Given the description of an element on the screen output the (x, y) to click on. 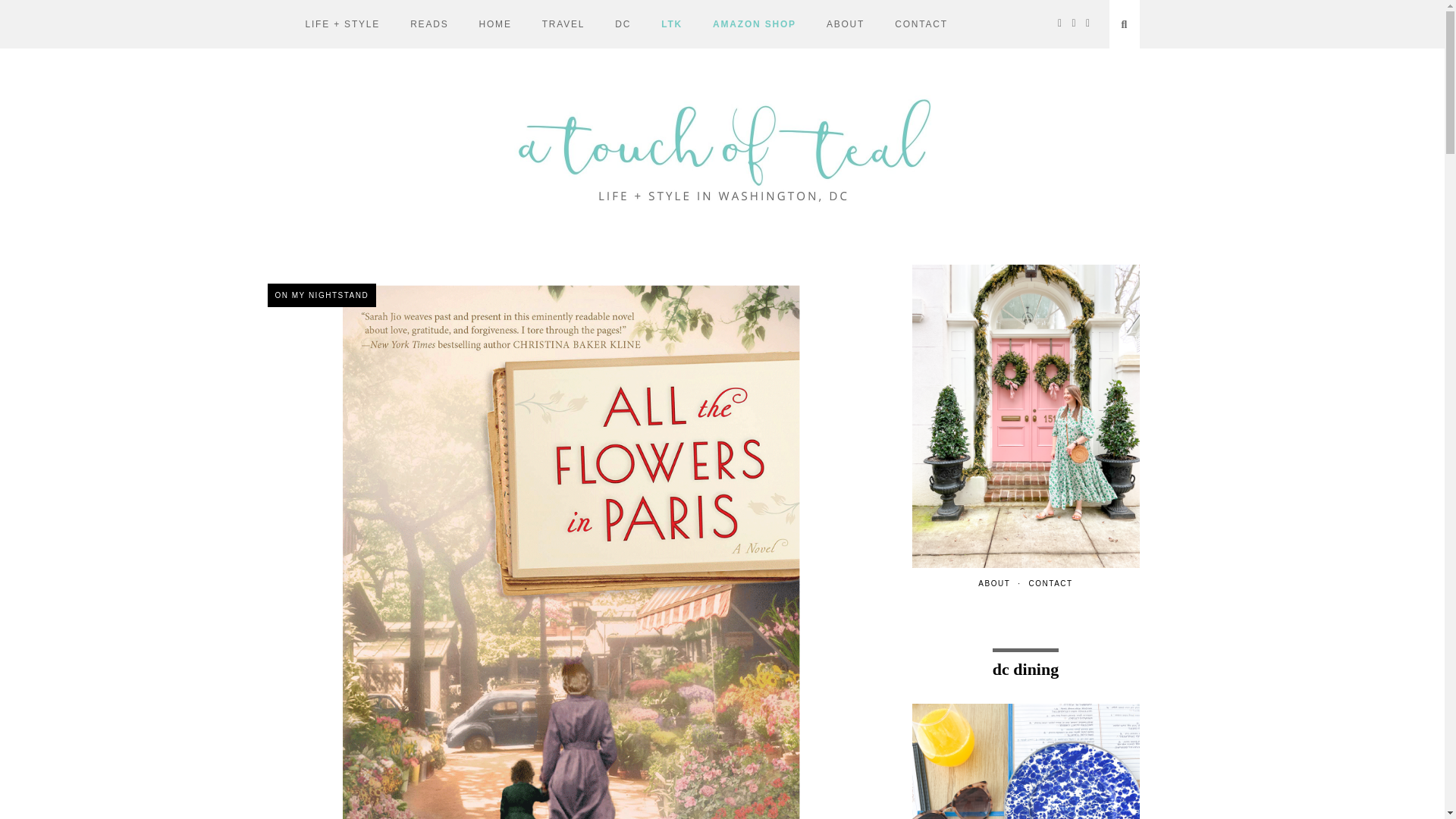
AMAZON SHOP (754, 23)
READS (429, 23)
View all posts in on my nightstand (320, 295)
ABOUT (845, 23)
HOME (495, 23)
TRAVEL (563, 23)
ON MY NIGHTSTAND (320, 295)
CONTACT (921, 23)
